Given the description of an element on the screen output the (x, y) to click on. 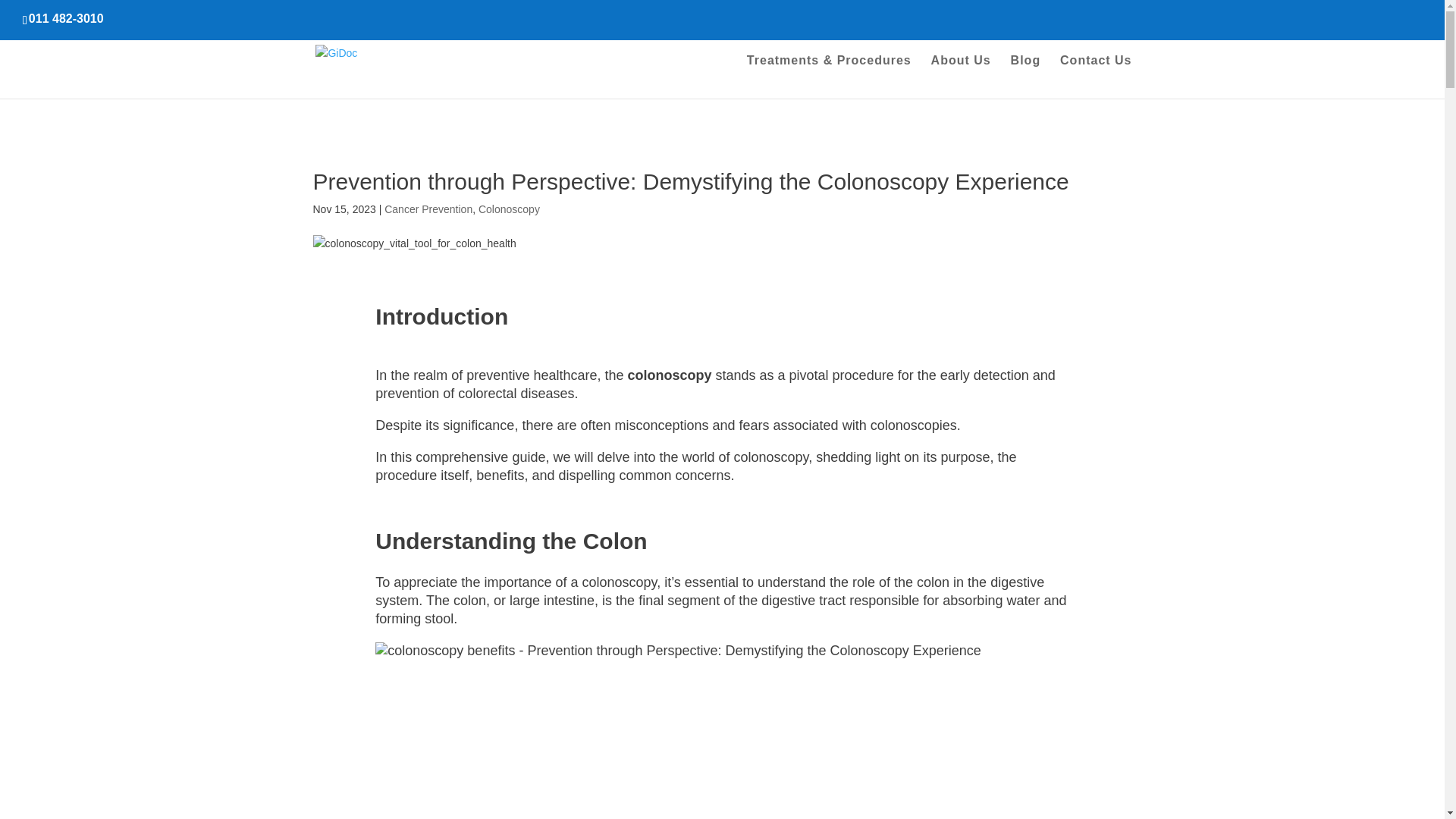
Contact Us (1095, 76)
Cancer Prevention (427, 209)
About Us (961, 76)
Colonoscopy (509, 209)
